Given the description of an element on the screen output the (x, y) to click on. 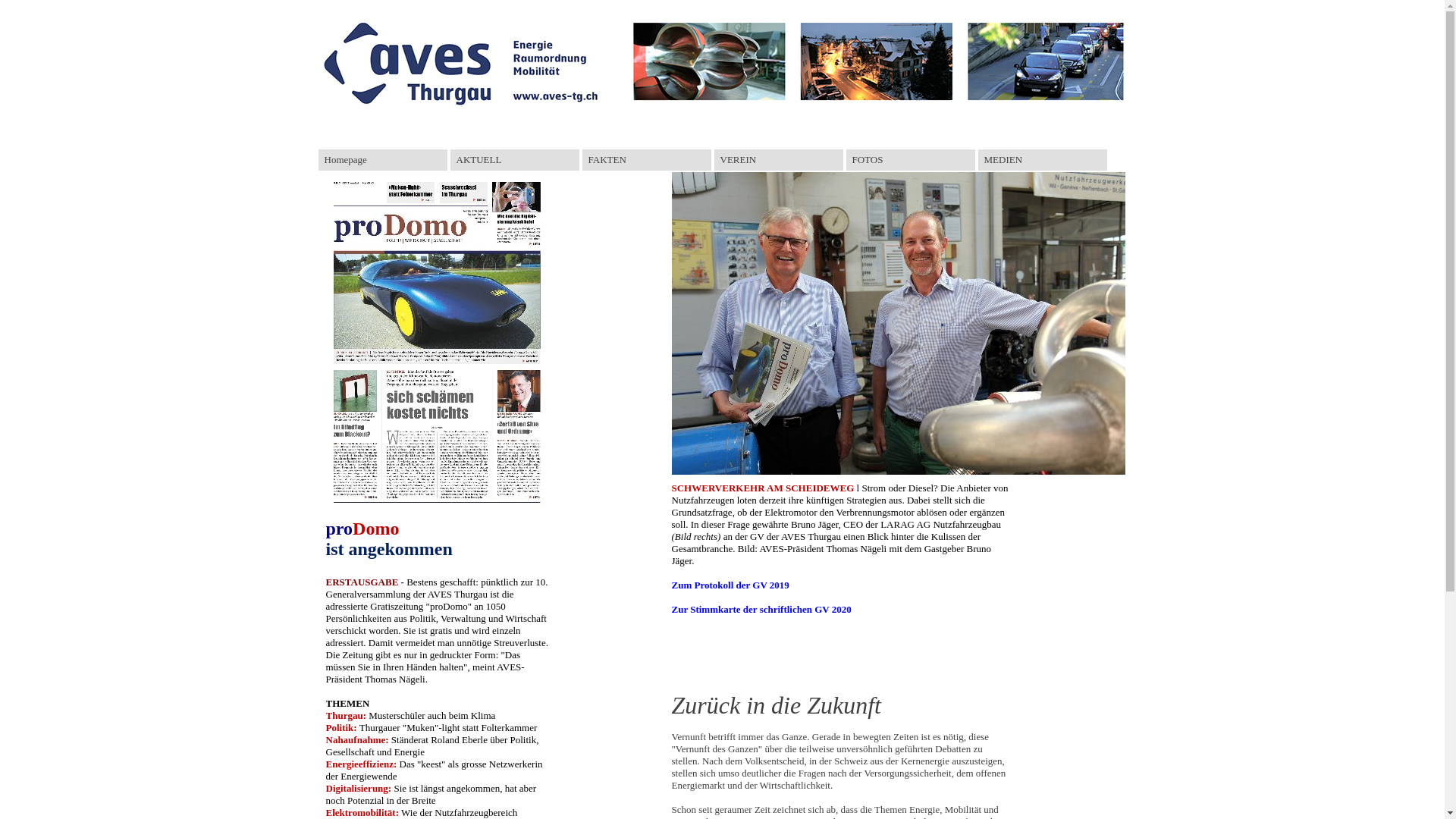
VEREIN Element type: text (778, 159)
Homepage Element type: text (382, 159)
FOTOS Element type: text (910, 159)
AKTUELL Element type: text (514, 159)
Zur Stimmkarte der schriftlichen GV 2020 Element type: text (761, 609)
FAKTEN Element type: text (646, 159)
Zum Protokoll der GV 2019 Element type: text (730, 584)
MEDIEN Element type: text (1042, 159)
